Given the description of an element on the screen output the (x, y) to click on. 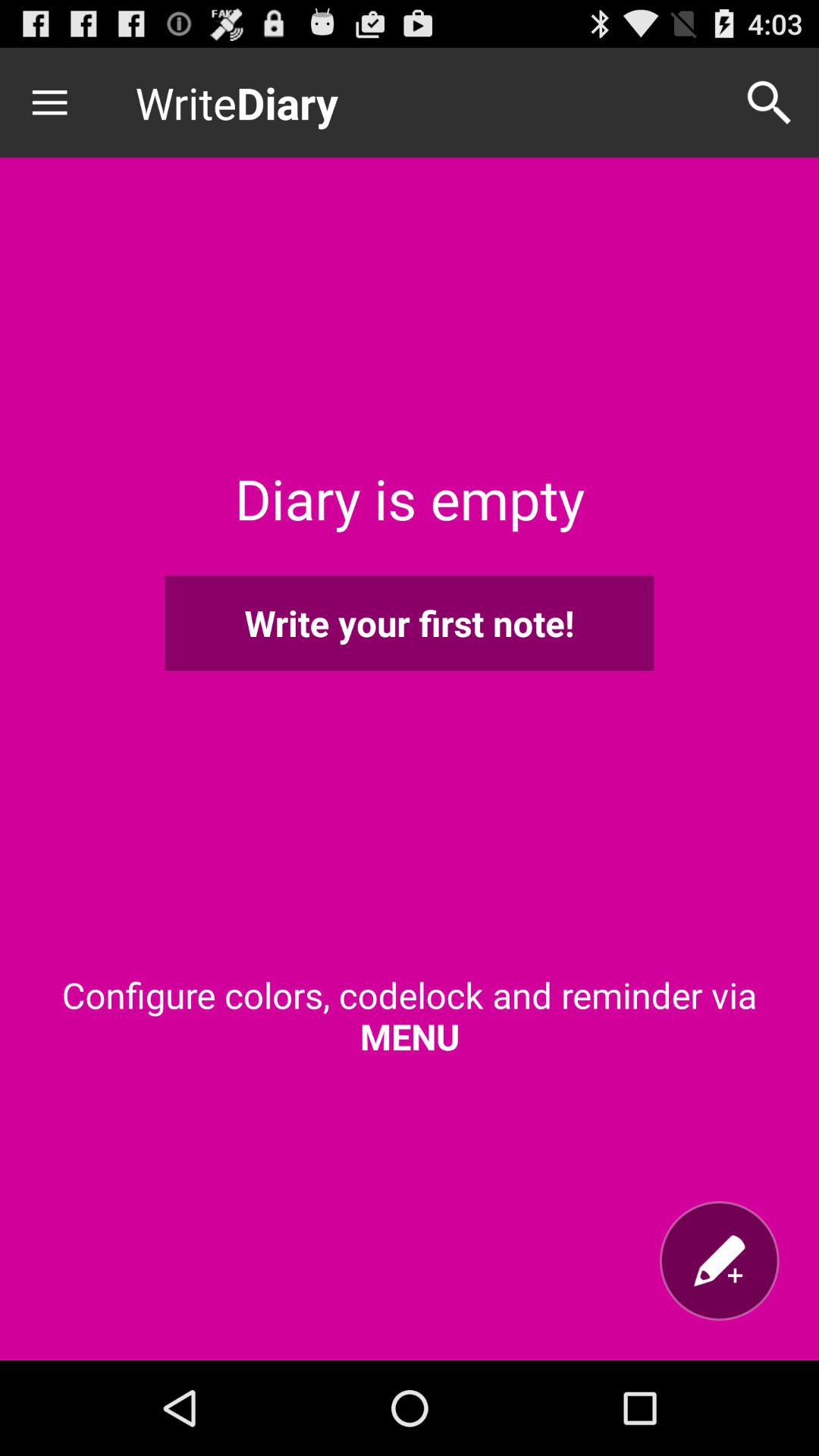
swipe to write your first (409, 623)
